Given the description of an element on the screen output the (x, y) to click on. 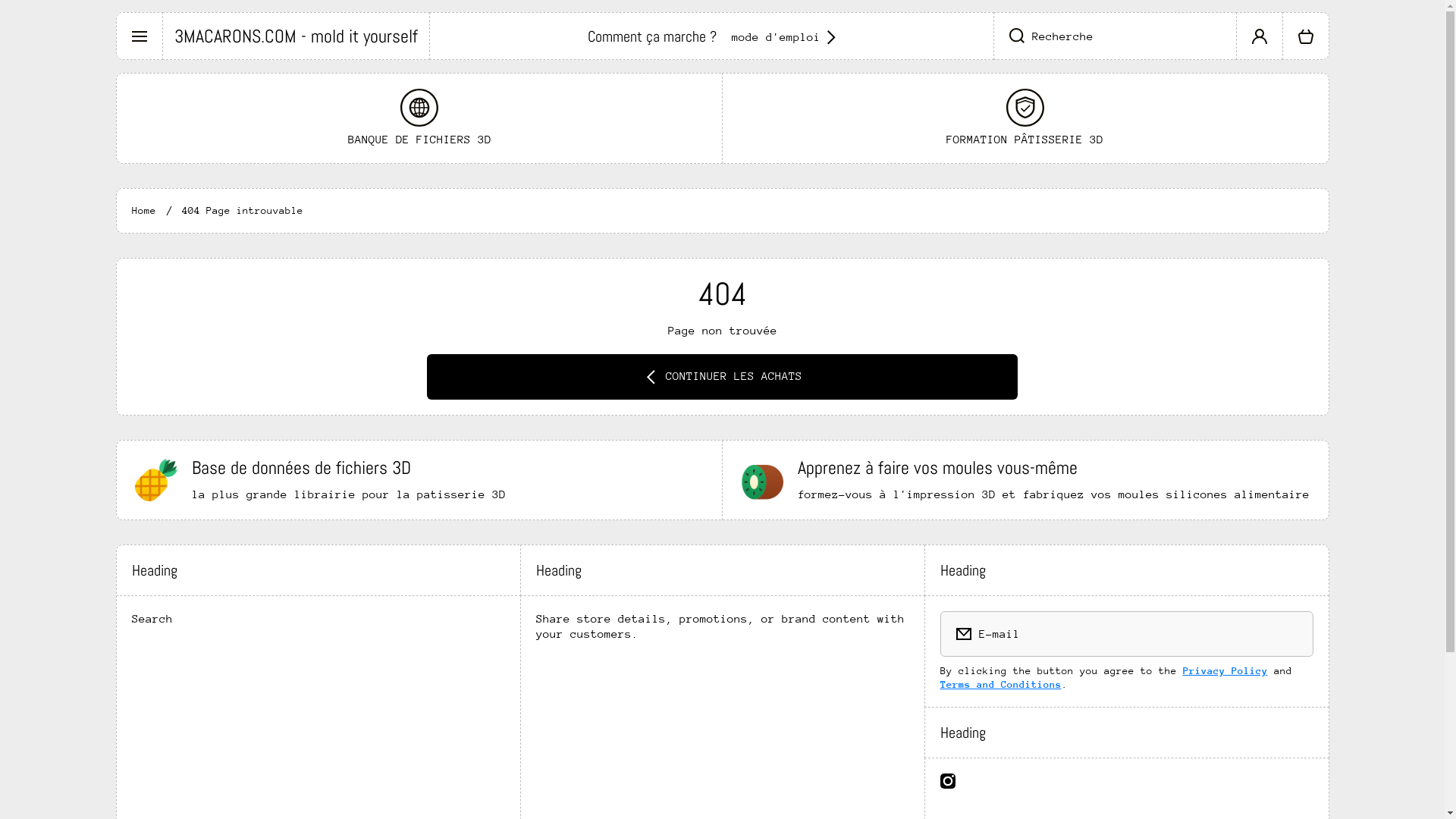
Search Element type: text (151, 615)
CONTINUER LES ACHATS Element type: text (721, 376)
Terms and Conditions Element type: text (1000, 684)
Privacy Policy Element type: text (1225, 670)
3MACARONS.COM - mold it yourself Element type: text (295, 35)
Home Element type: text (143, 210)
instagramcom/la_ferme_3d/ Element type: text (947, 780)
BANQUE DE FICHIERS 3D Element type: text (419, 118)
Panier Element type: text (1305, 35)
Connexion Element type: text (1258, 35)
